Given the description of an element on the screen output the (x, y) to click on. 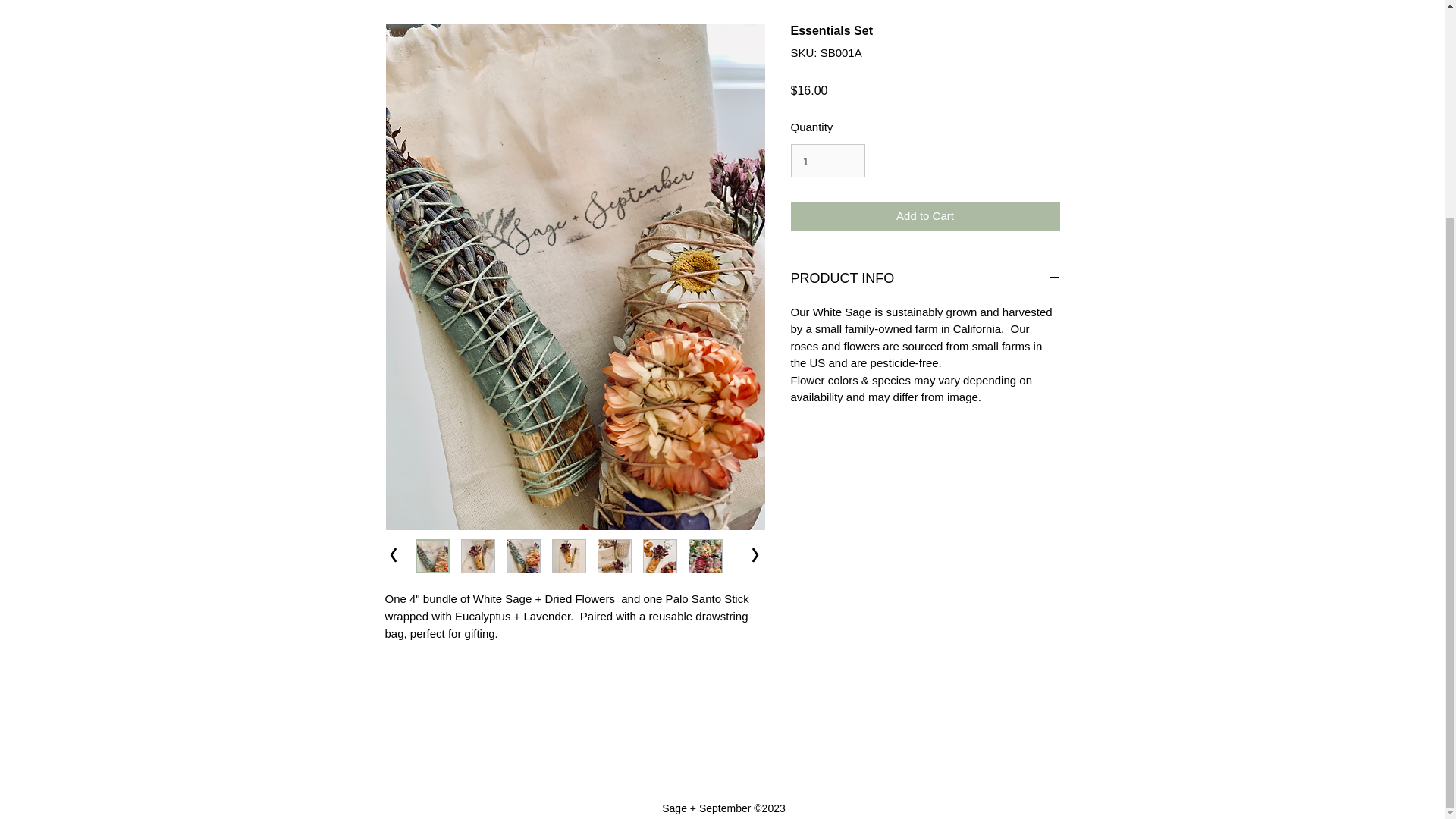
PRODUCT INFO (924, 278)
Add to Cart (924, 215)
1 (827, 160)
